Given the description of an element on the screen output the (x, y) to click on. 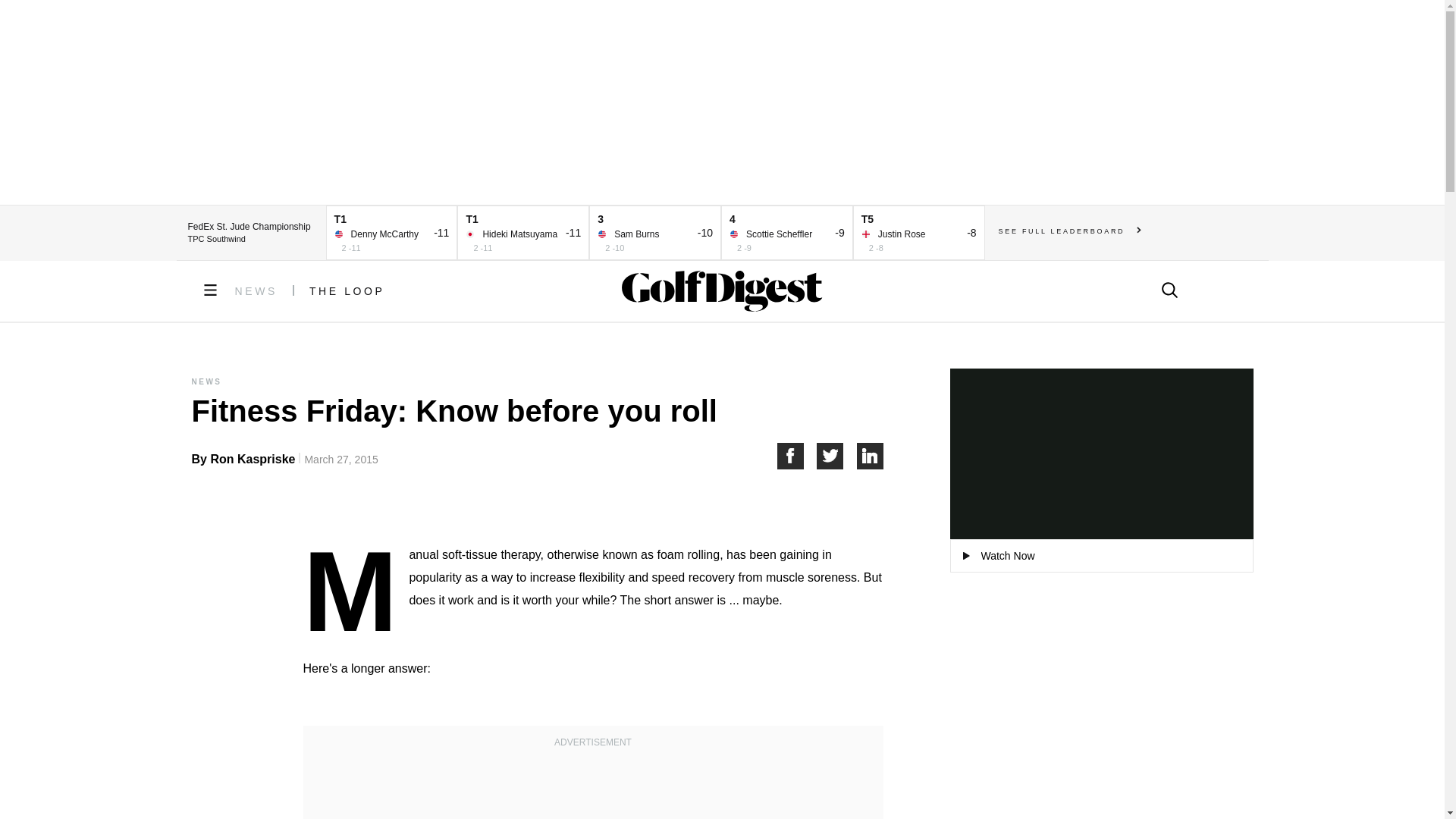
NEWS (256, 291)
Share on LinkedIn (870, 456)
Share on Facebook (796, 456)
Share on Twitter (836, 456)
THE LOOP (346, 291)
SEE FULL LEADERBOARD (1069, 230)
